Given the description of an element on the screen output the (x, y) to click on. 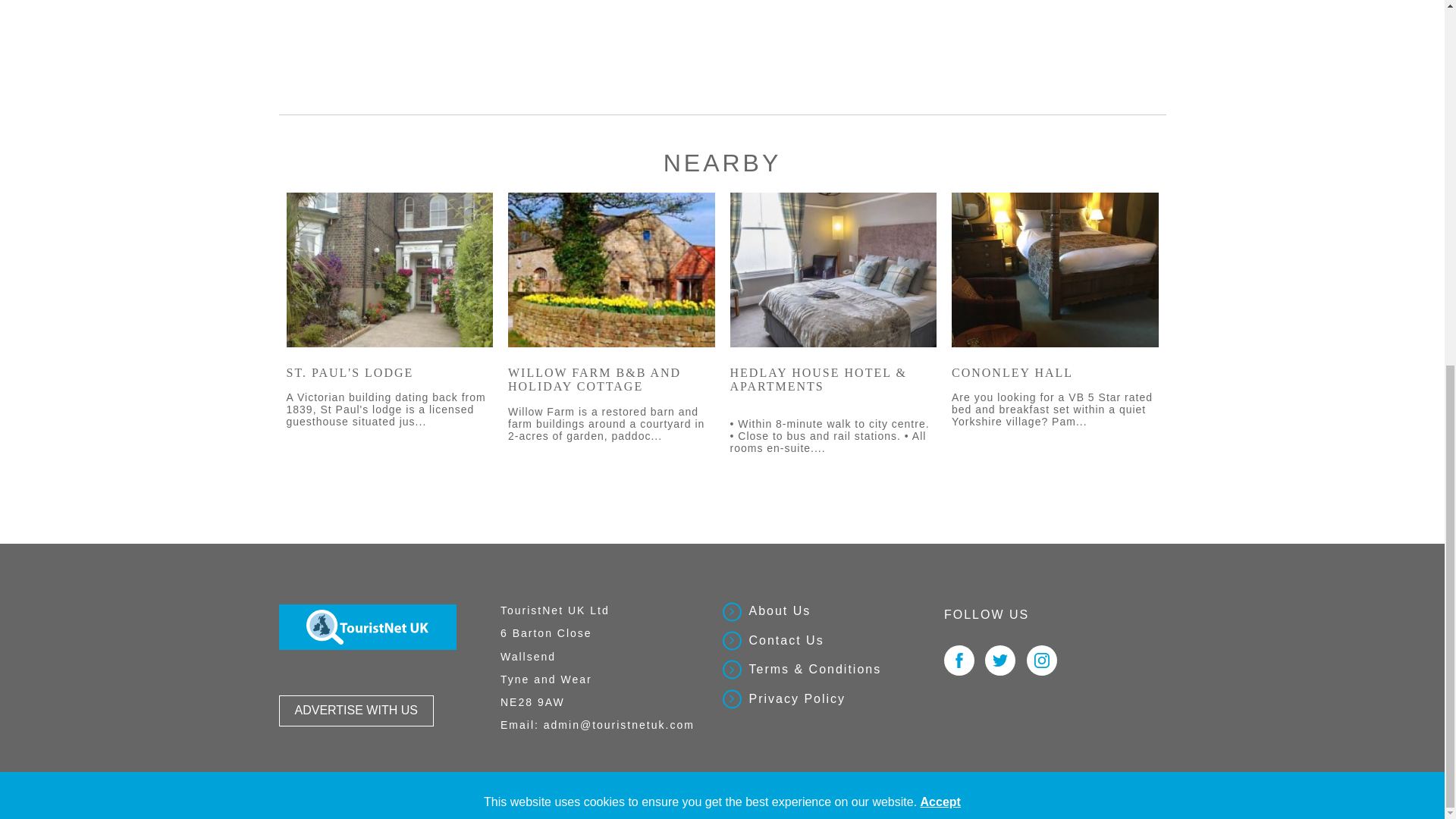
Accept (940, 145)
